Given the description of an element on the screen output the (x, y) to click on. 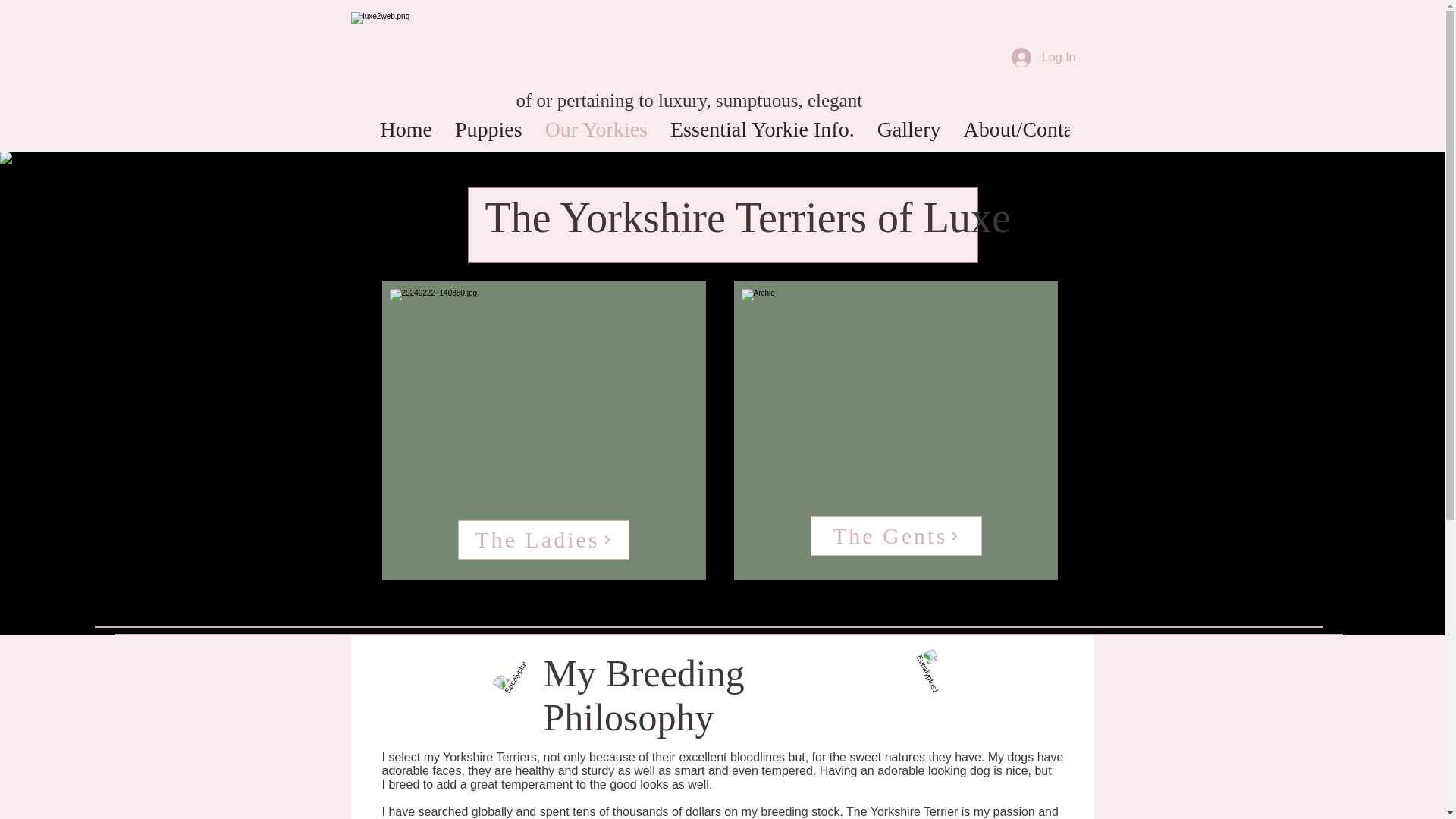
Home (405, 132)
Essential Yorkie Info. (762, 132)
Gallery (909, 132)
Log In (1043, 57)
The Gents (895, 536)
Our Yorkies (596, 132)
Puppies (489, 132)
The Ladies (543, 539)
